Given the description of an element on the screen output the (x, y) to click on. 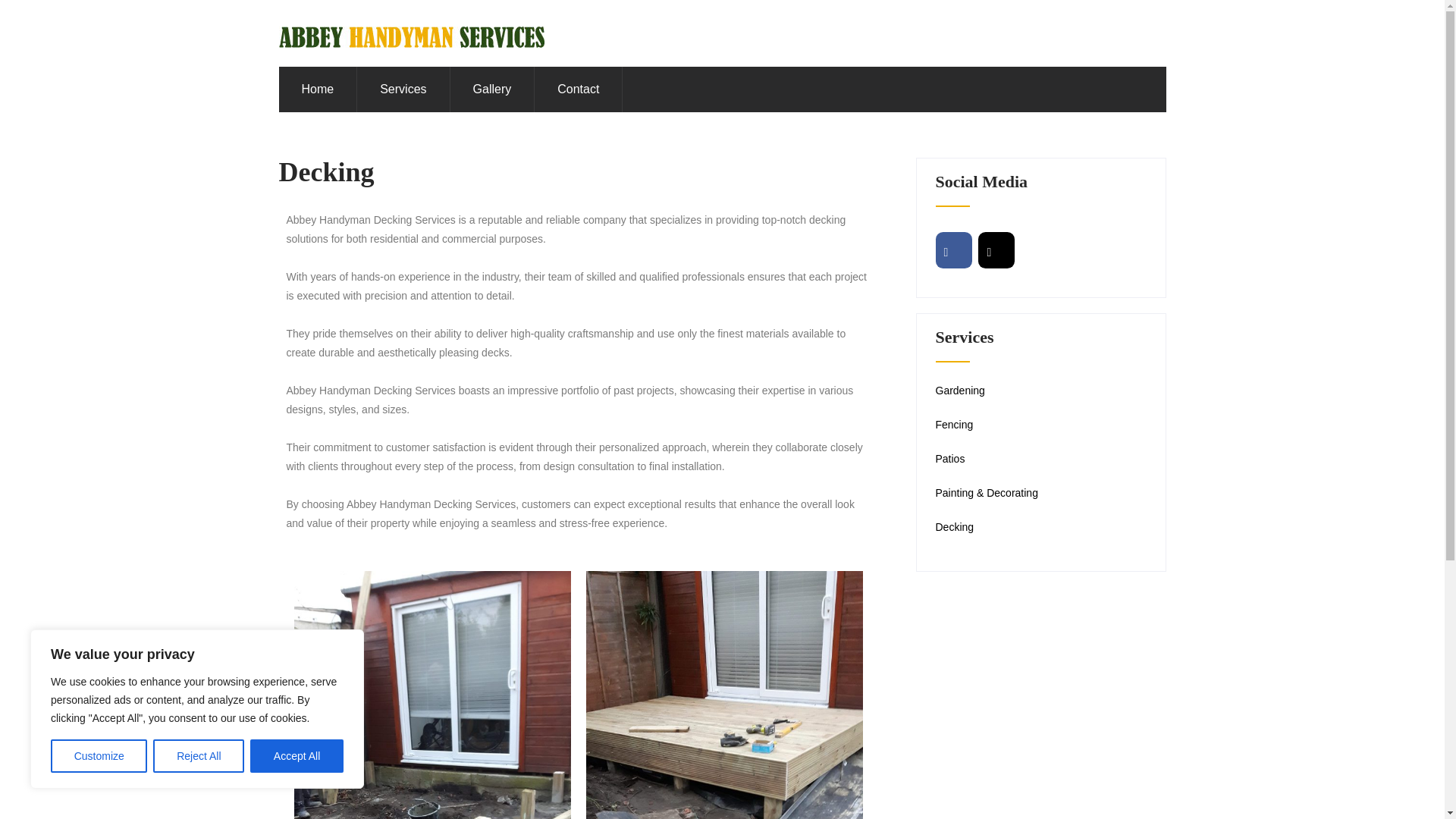
Gallery (491, 89)
Contact (577, 89)
Home (317, 89)
Services (402, 89)
facebook (954, 249)
Accept All (296, 756)
Gardening (960, 390)
Instagram (996, 249)
Decking (955, 526)
Reject All (198, 756)
instagram (996, 249)
Customize (98, 756)
Patios (950, 458)
Fencing (955, 424)
Facebook (954, 249)
